Given the description of an element on the screen output the (x, y) to click on. 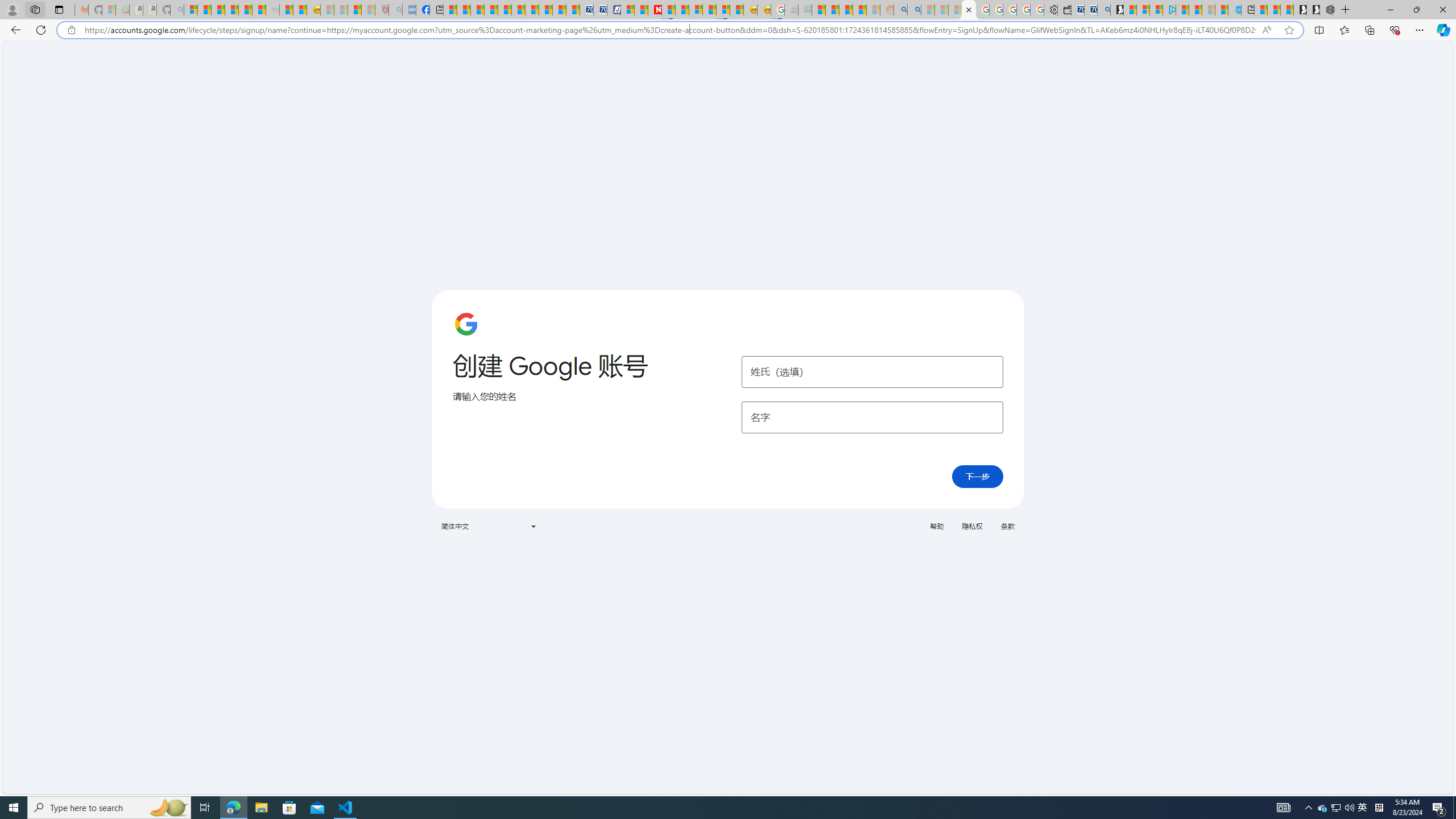
The Weather Channel - MSN (218, 9)
New Report Confirms 2023 Was Record Hot | Watch (245, 9)
Class: VfPpkd-t08AT-Bz112c-Bd00G (532, 526)
